Given the description of an element on the screen output the (x, y) to click on. 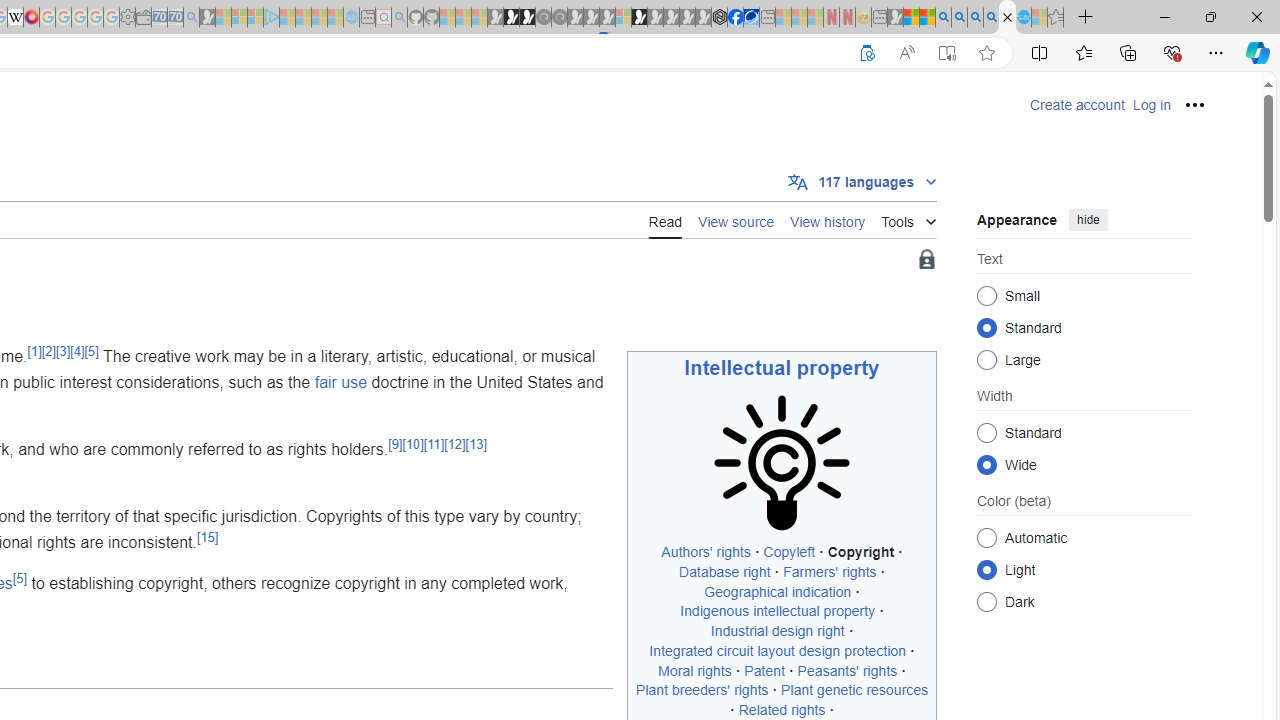
Sign in to your account - Sleeping (623, 17)
Log in (1151, 105)
Class: mw-list-item mw-list-item-js (1084, 569)
github - Search - Sleeping (399, 17)
Wallet - Sleeping (143, 17)
Intellectual property (781, 368)
[2] (48, 350)
[10] (412, 444)
